Given the description of an element on the screen output the (x, y) to click on. 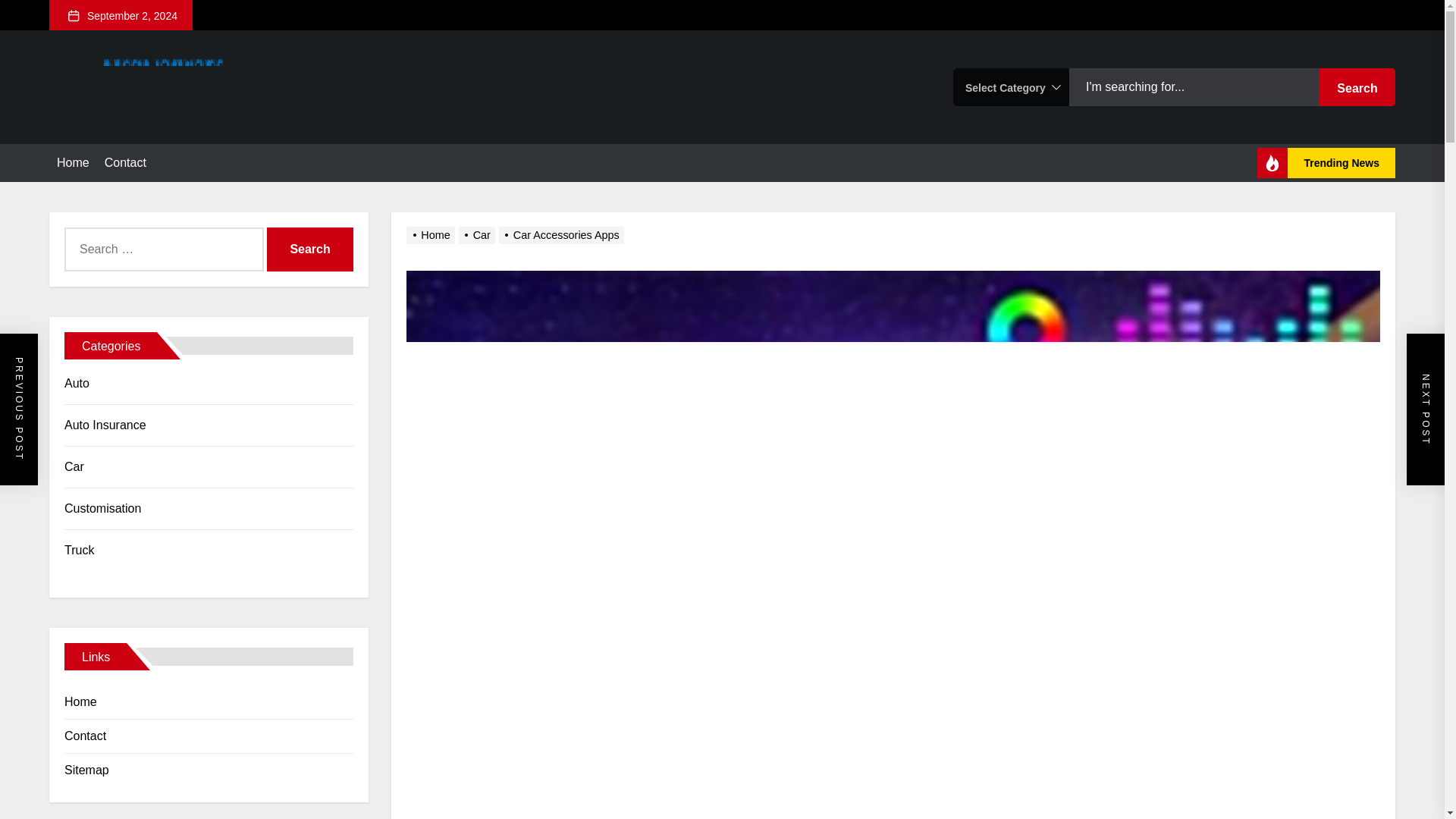
Home (432, 234)
Trending News (1325, 163)
Search (309, 249)
Car (478, 234)
Search (309, 249)
Home (72, 162)
Search (1356, 86)
Contact (125, 162)
